Given the description of an element on the screen output the (x, y) to click on. 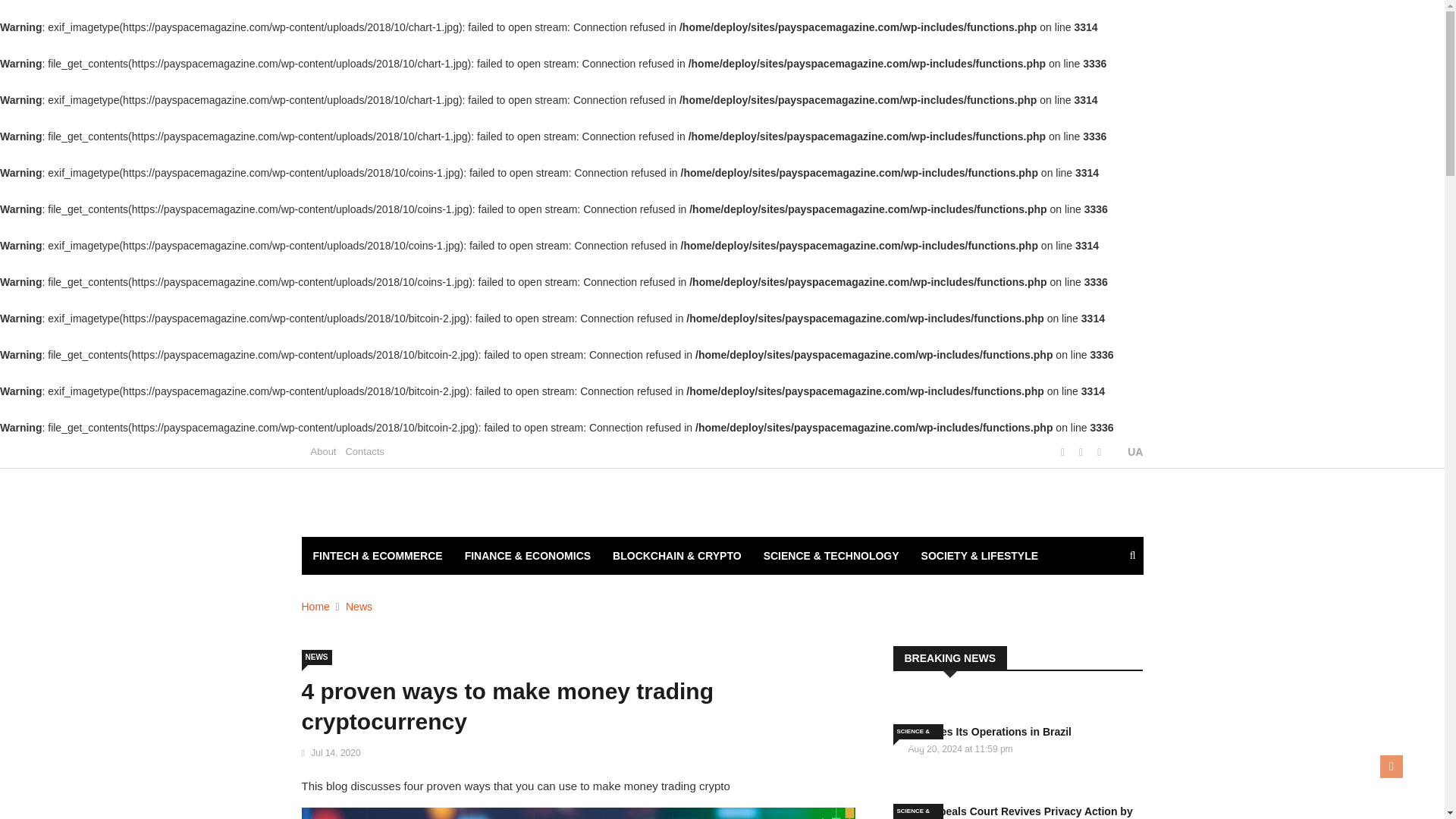
Back to Top (1391, 766)
NEWS (316, 657)
News (359, 606)
BIN CHECKER (349, 593)
Home (315, 606)
Contacts (364, 451)
UA (1127, 452)
About (323, 451)
